Given the description of an element on the screen output the (x, y) to click on. 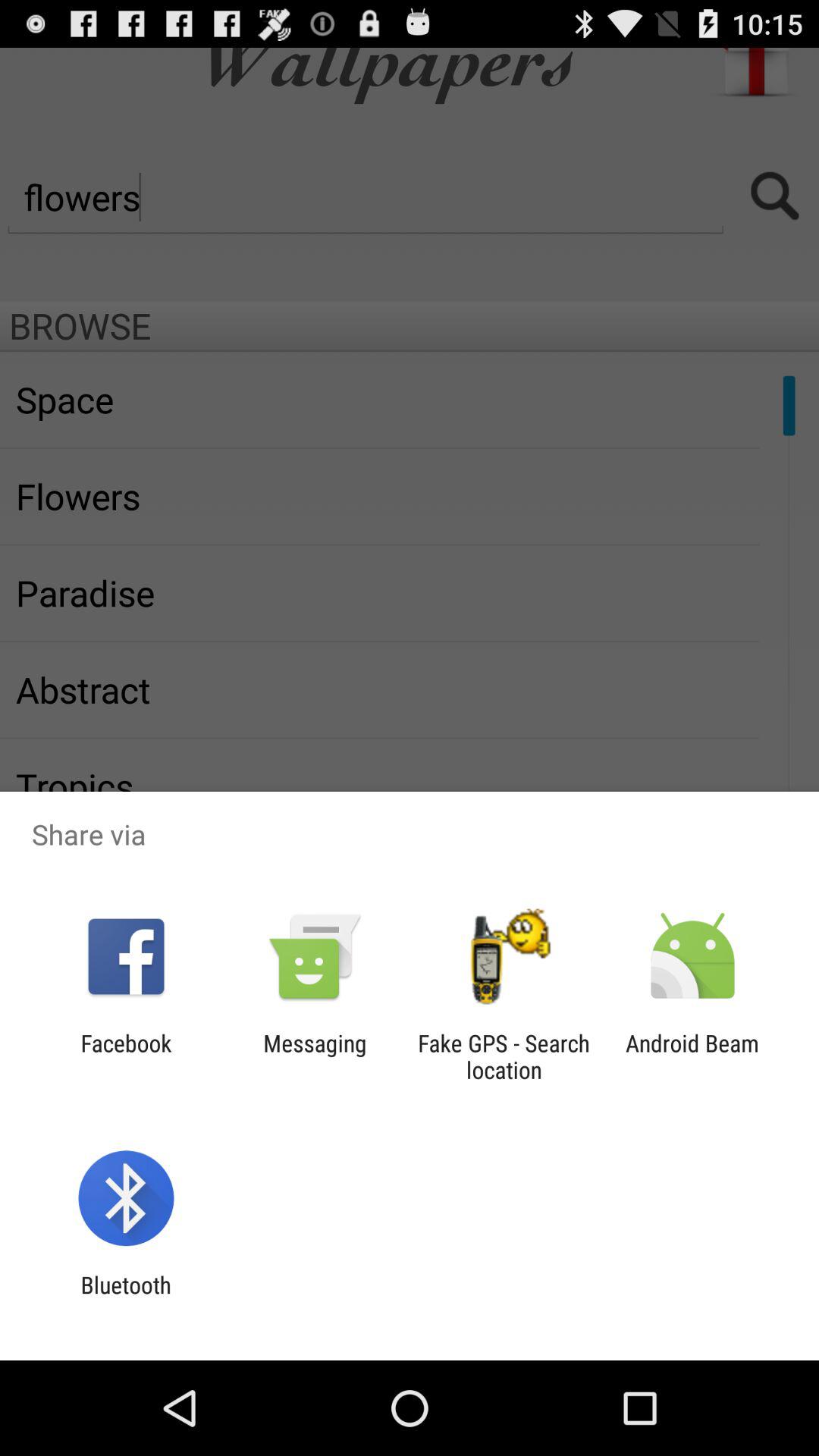
turn off the messaging icon (314, 1056)
